Given the description of an element on the screen output the (x, y) to click on. 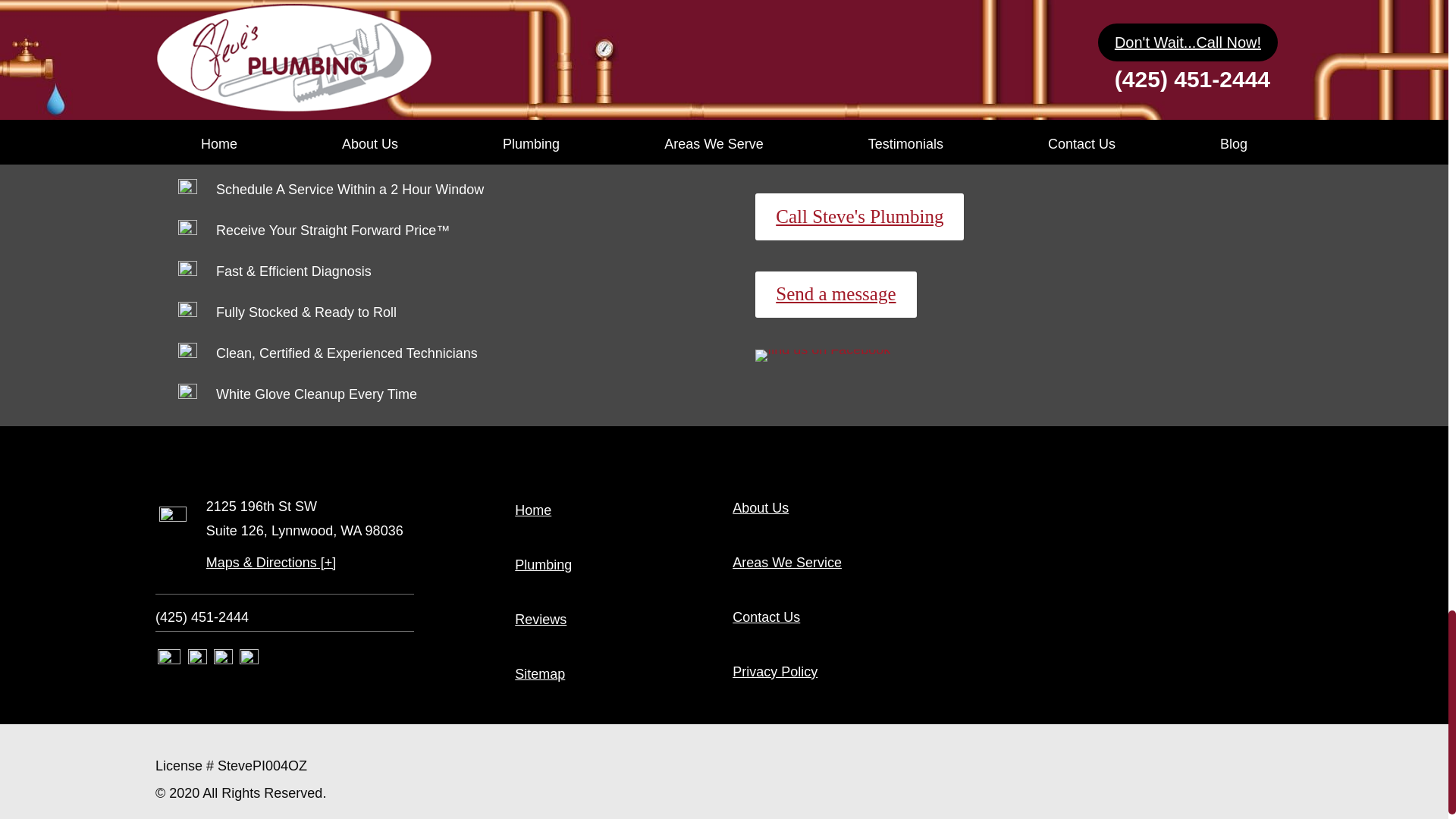
Facebook Page (223, 659)
Google Map (249, 659)
BBB Profile (196, 659)
